Given the description of an element on the screen output the (x, y) to click on. 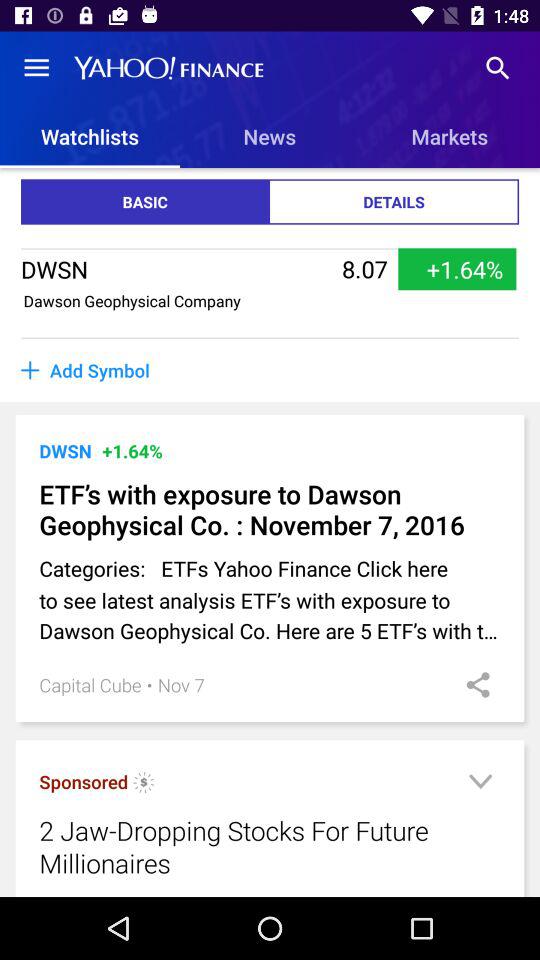
select the text beside search icon (168, 67)
